Given the description of an element on the screen output the (x, y) to click on. 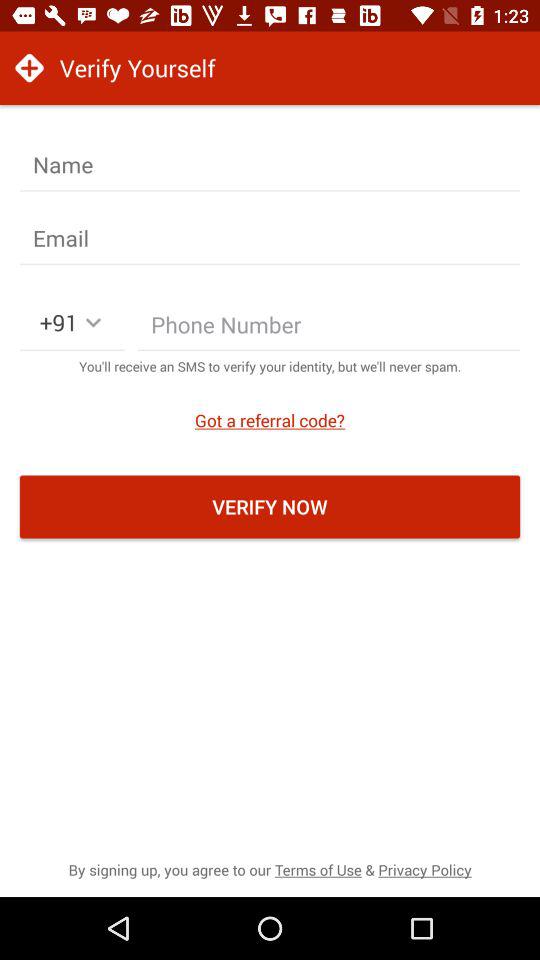
select item above the by signing up (269, 506)
